Given the description of an element on the screen output the (x, y) to click on. 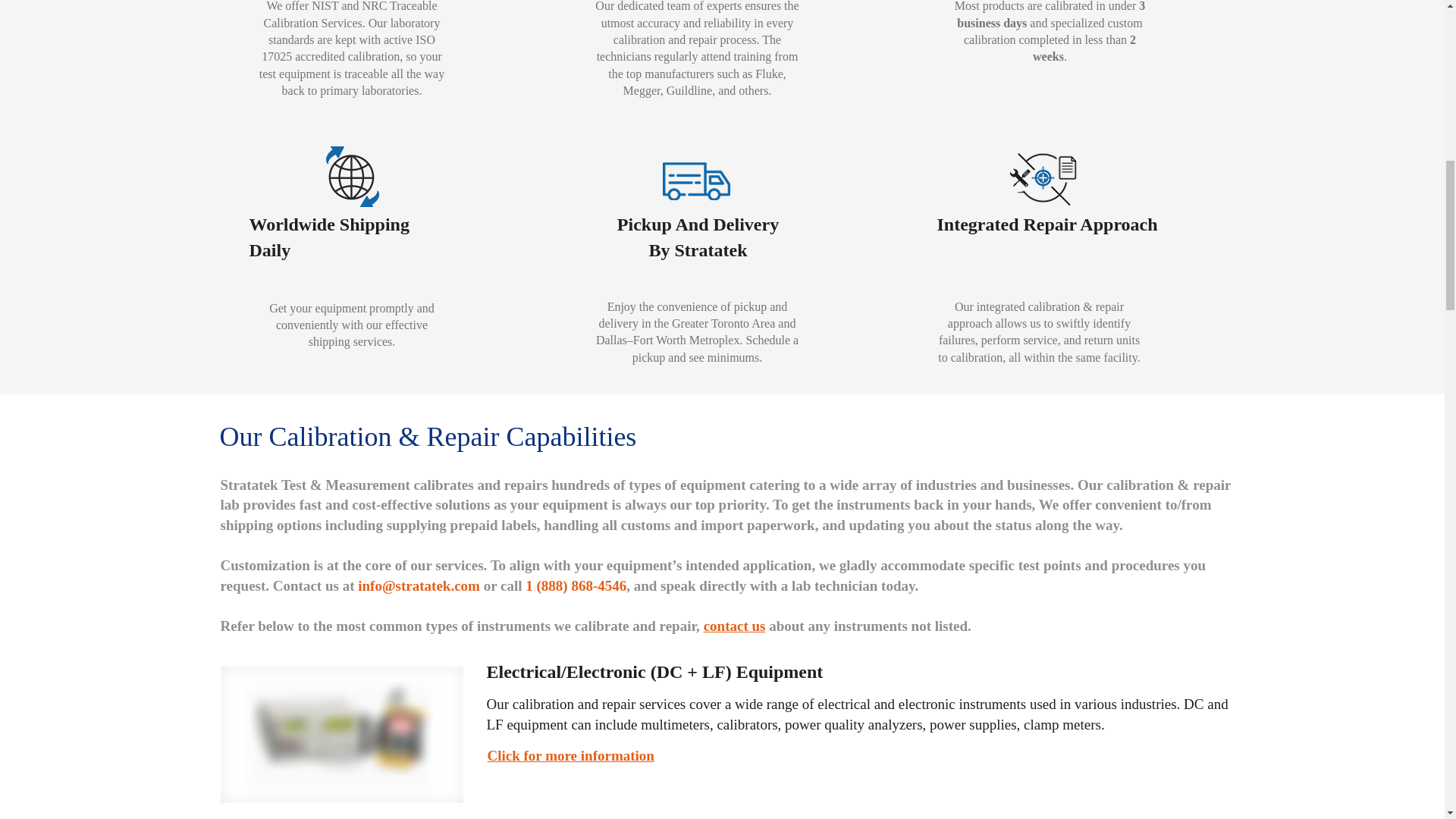
Stratatek Integration Repair Approach (1049, 176)
Electrical Equipment Calibration and Repair (341, 734)
Stratatek Pickup and Delivery (696, 180)
